Given the description of an element on the screen output the (x, y) to click on. 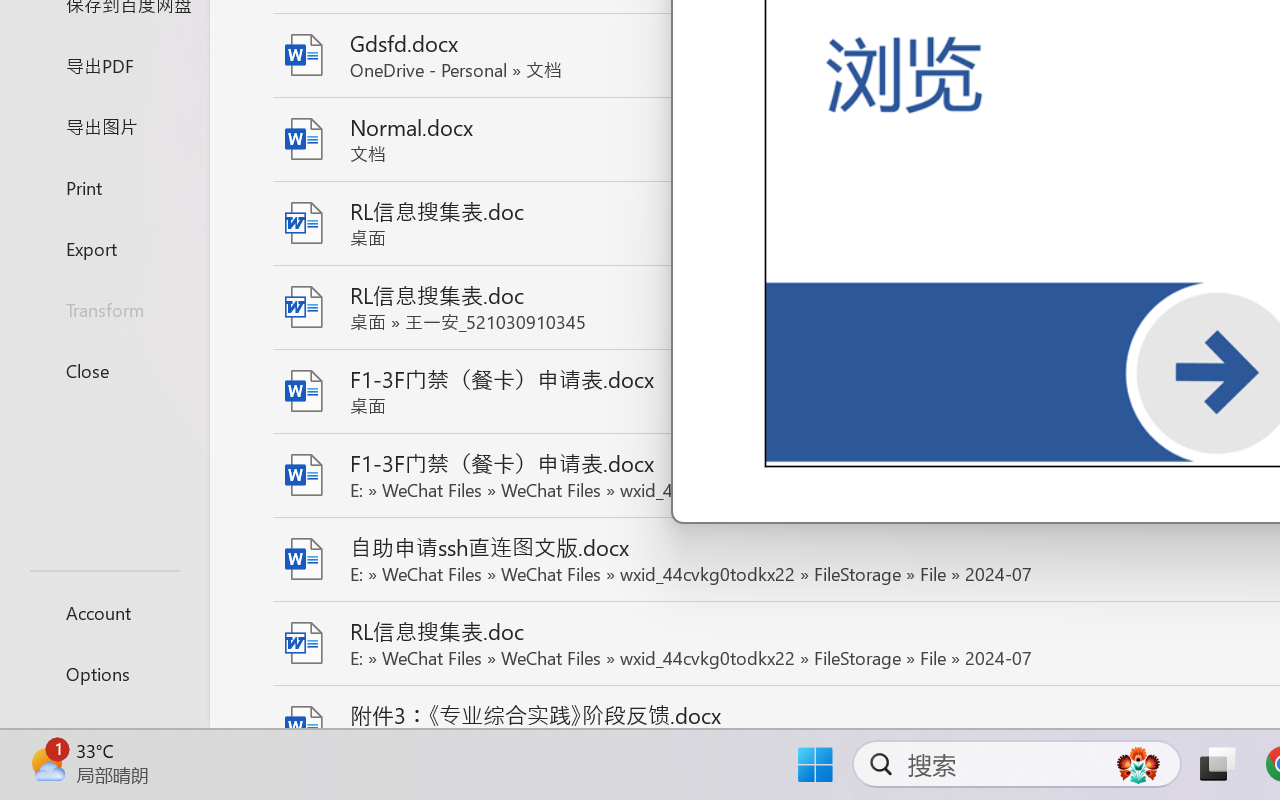
Transform (104, 309)
Export (104, 248)
Account (104, 612)
Print (104, 186)
Options (104, 673)
